Given the description of an element on the screen output the (x, y) to click on. 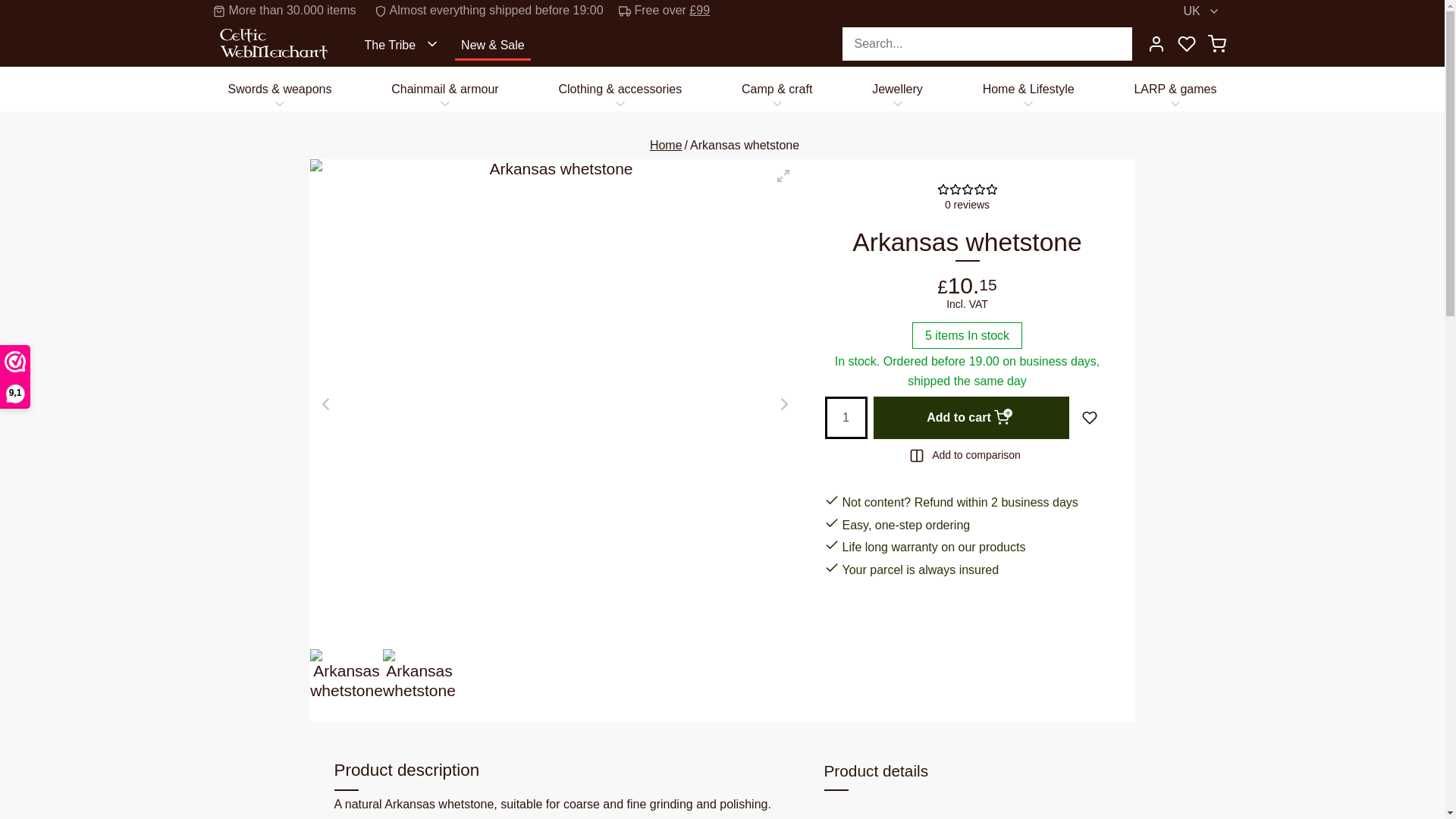
Almost everything shipped before 19:00 (500, 10)
buy sword (279, 88)
Wishlist (1185, 43)
The Tribe (403, 43)
1 (846, 417)
Cart (1216, 43)
More than 30.000 items (296, 10)
More than 30.000 items (296, 10)
Account (1155, 43)
Almost everything shipped before 19:00 (500, 10)
